Given the description of an element on the screen output the (x, y) to click on. 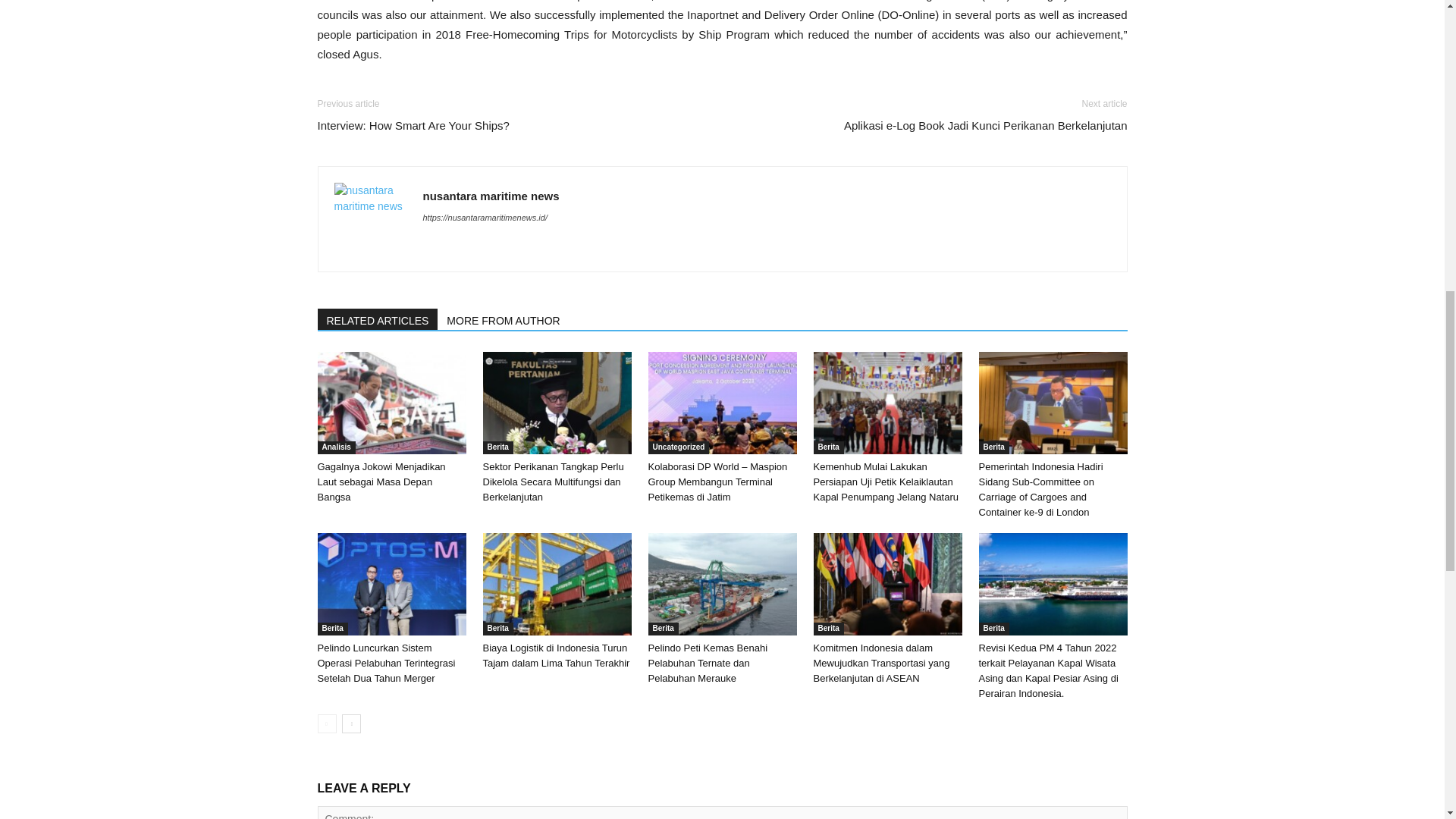
Gagalnya Jokowi Menjadikan Laut sebagai Masa Depan Bangsa (391, 403)
Berita (827, 447)
Uncategorized (678, 447)
RELATED ARTICLES (377, 319)
Aplikasi e-Log Book Jadi Kunci Perikanan Berkelanjutan (985, 125)
Berita (496, 447)
Gagalnya Jokowi Menjadikan Laut sebagai Masa Depan Bangsa (381, 481)
Analisis (336, 447)
MORE FROM AUTHOR (503, 319)
Interview: How Smart Are Your Ships? (412, 125)
nusantara maritime news (491, 195)
Gagalnya Jokowi Menjadikan Laut sebagai Masa Depan Bangsa (381, 481)
